Given the description of an element on the screen output the (x, y) to click on. 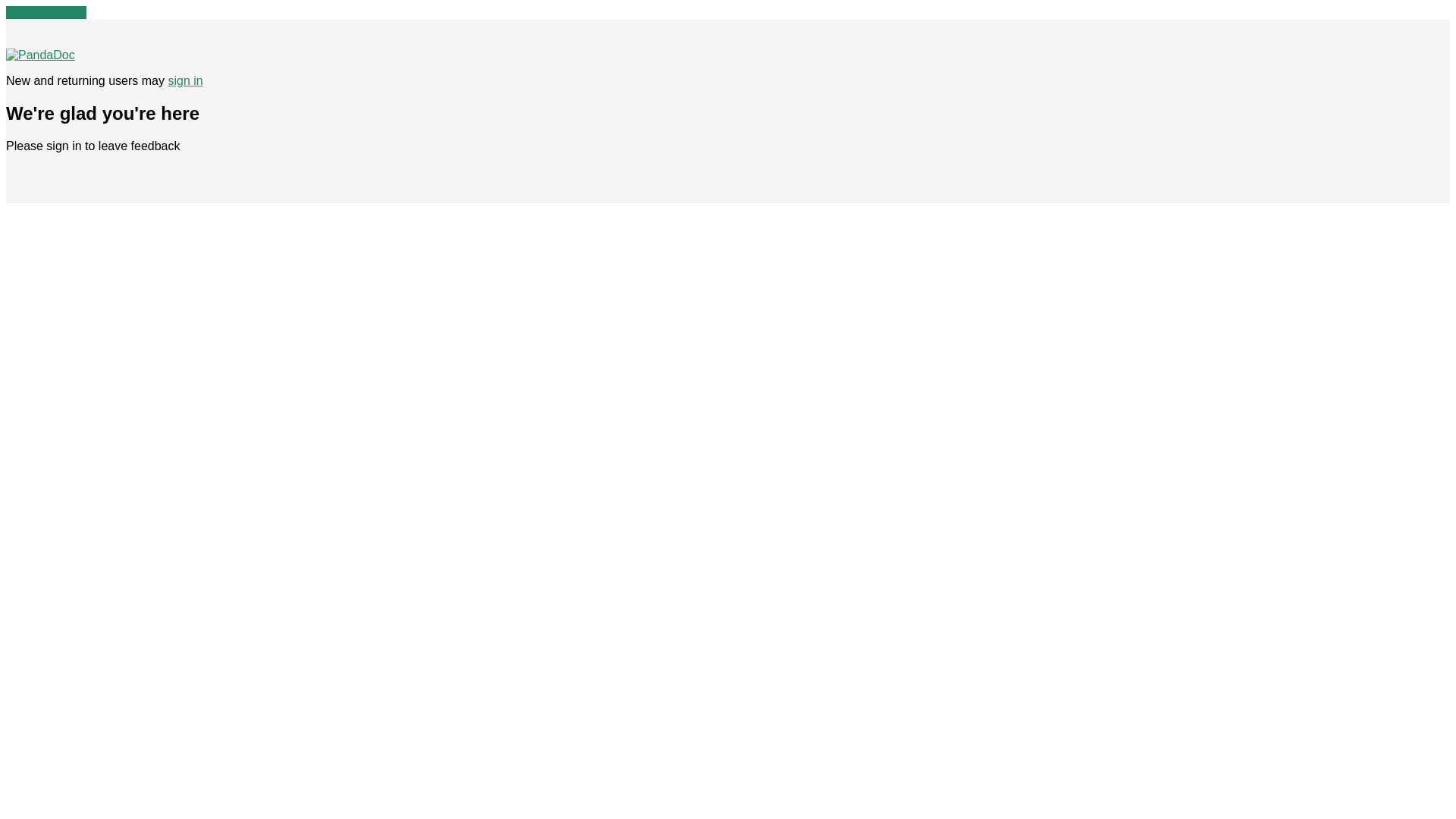
Skip to content (45, 11)
sign in (184, 80)
Have an idea? Share it! (40, 54)
